Given the description of an element on the screen output the (x, y) to click on. 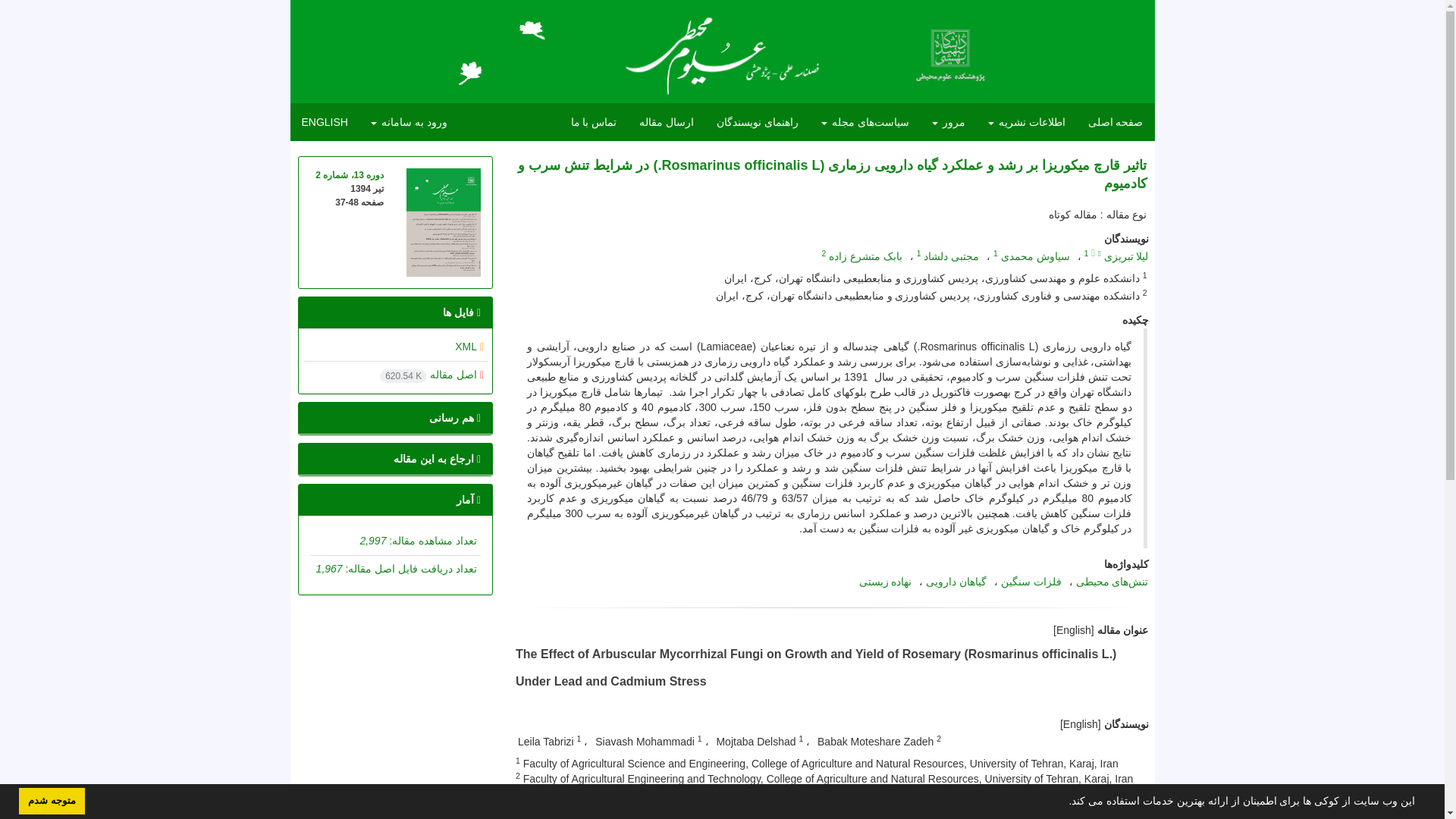
ENGLISH (323, 121)
